Given the description of an element on the screen output the (x, y) to click on. 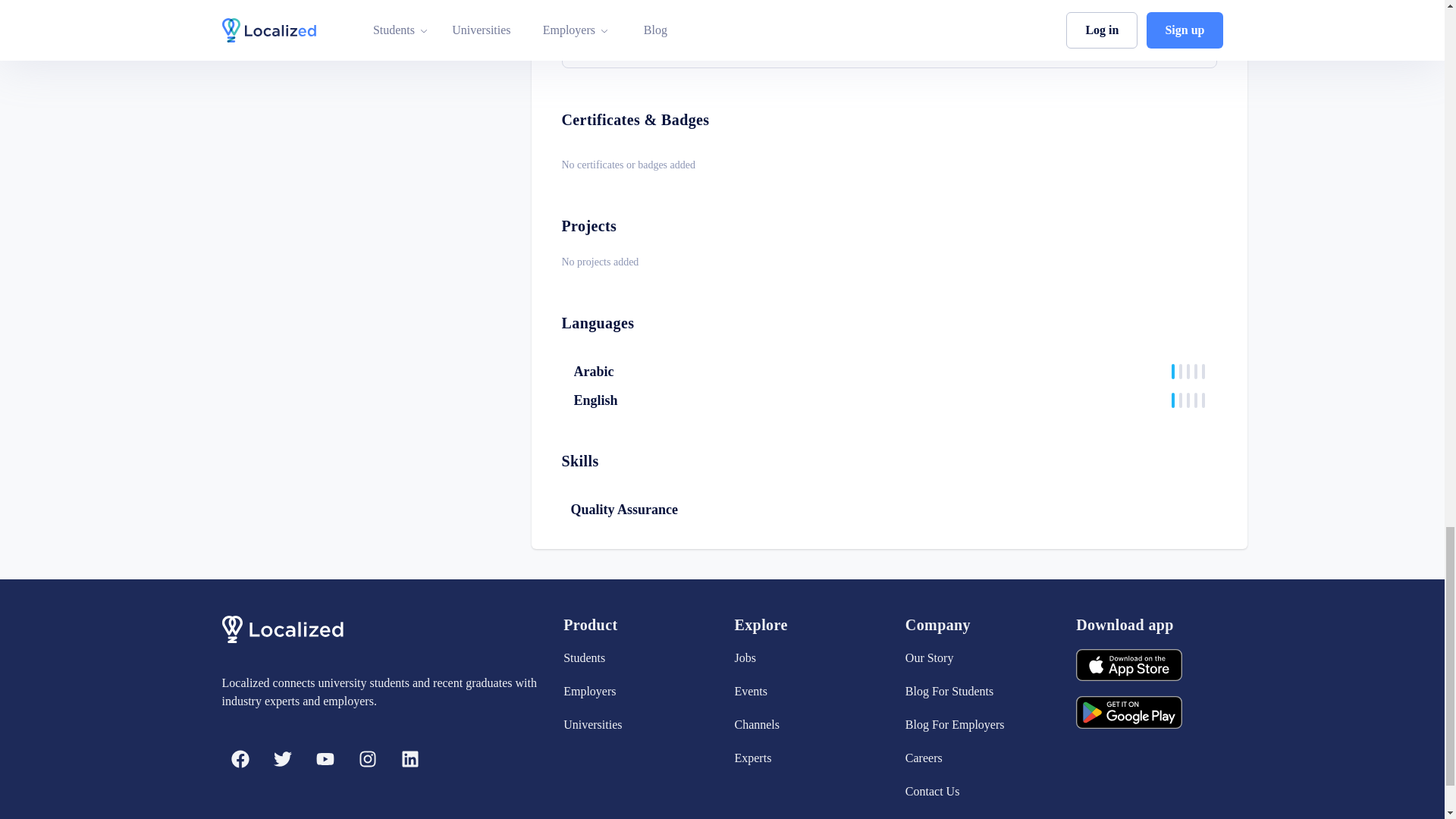
Universities (636, 724)
Events (806, 691)
Students (636, 658)
Jobs (806, 658)
Employers (636, 691)
